Given the description of an element on the screen output the (x, y) to click on. 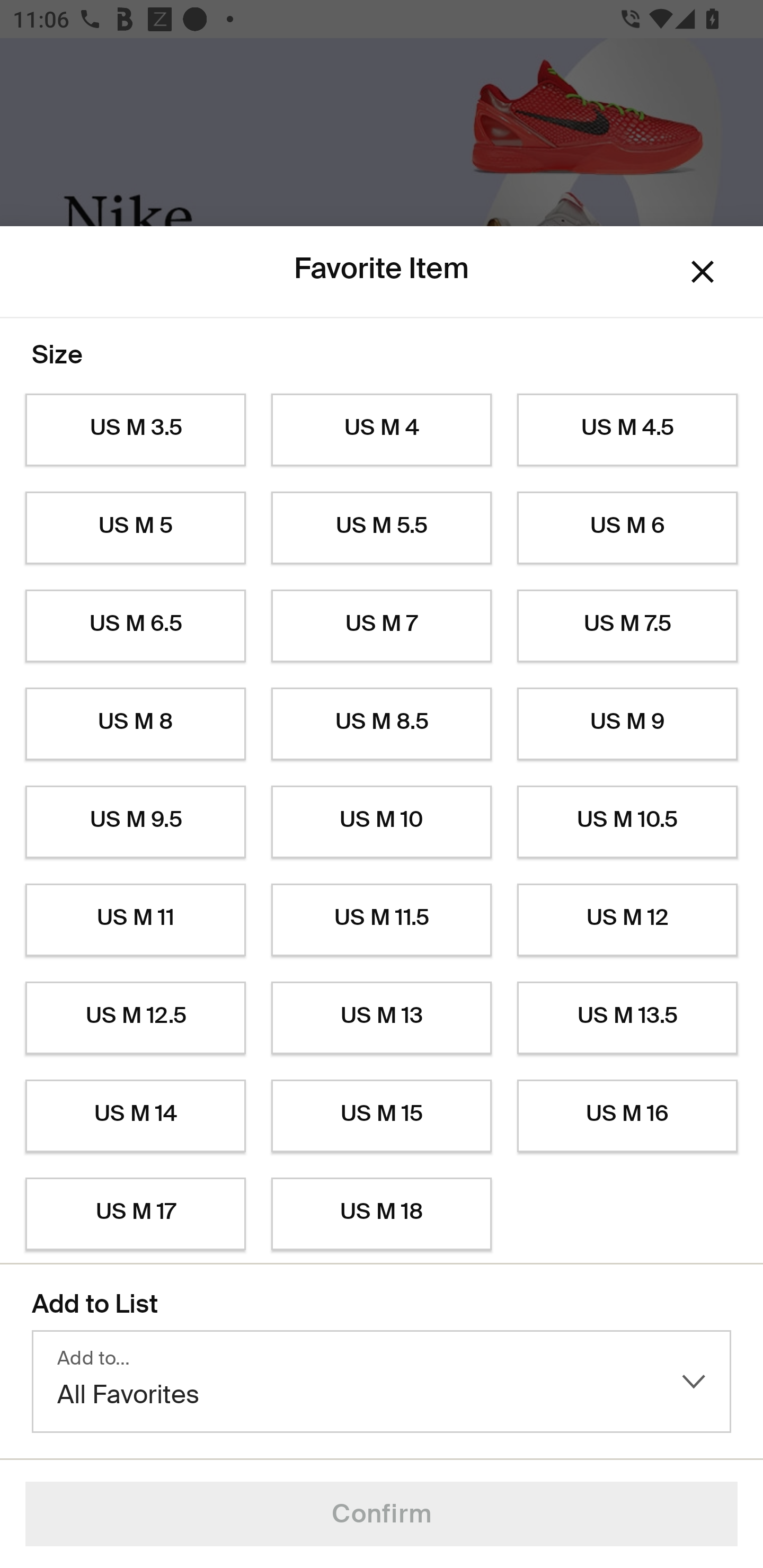
Dismiss (702, 271)
US M 3.5 (135, 430)
US M 4 (381, 430)
US M 4.5 (627, 430)
US M 5 (135, 527)
US M 5.5 (381, 527)
US M 6 (627, 527)
US M 6.5 (135, 626)
US M 7 (381, 626)
US M 7.5 (627, 626)
US M 8 (135, 724)
US M 8.5 (381, 724)
US M 9 (627, 724)
US M 9.5 (135, 822)
US M 10 (381, 822)
US M 10.5 (627, 822)
US M 11 (135, 919)
US M 11.5 (381, 919)
US M 12 (627, 919)
US M 12.5 (135, 1018)
US M 13 (381, 1018)
US M 13.5 (627, 1018)
US M 14 (135, 1116)
US M 15 (381, 1116)
US M 16 (627, 1116)
US M 17 (135, 1214)
US M 18 (381, 1214)
Add to… All Favorites (381, 1381)
Confirm (381, 1513)
